Given the description of an element on the screen output the (x, y) to click on. 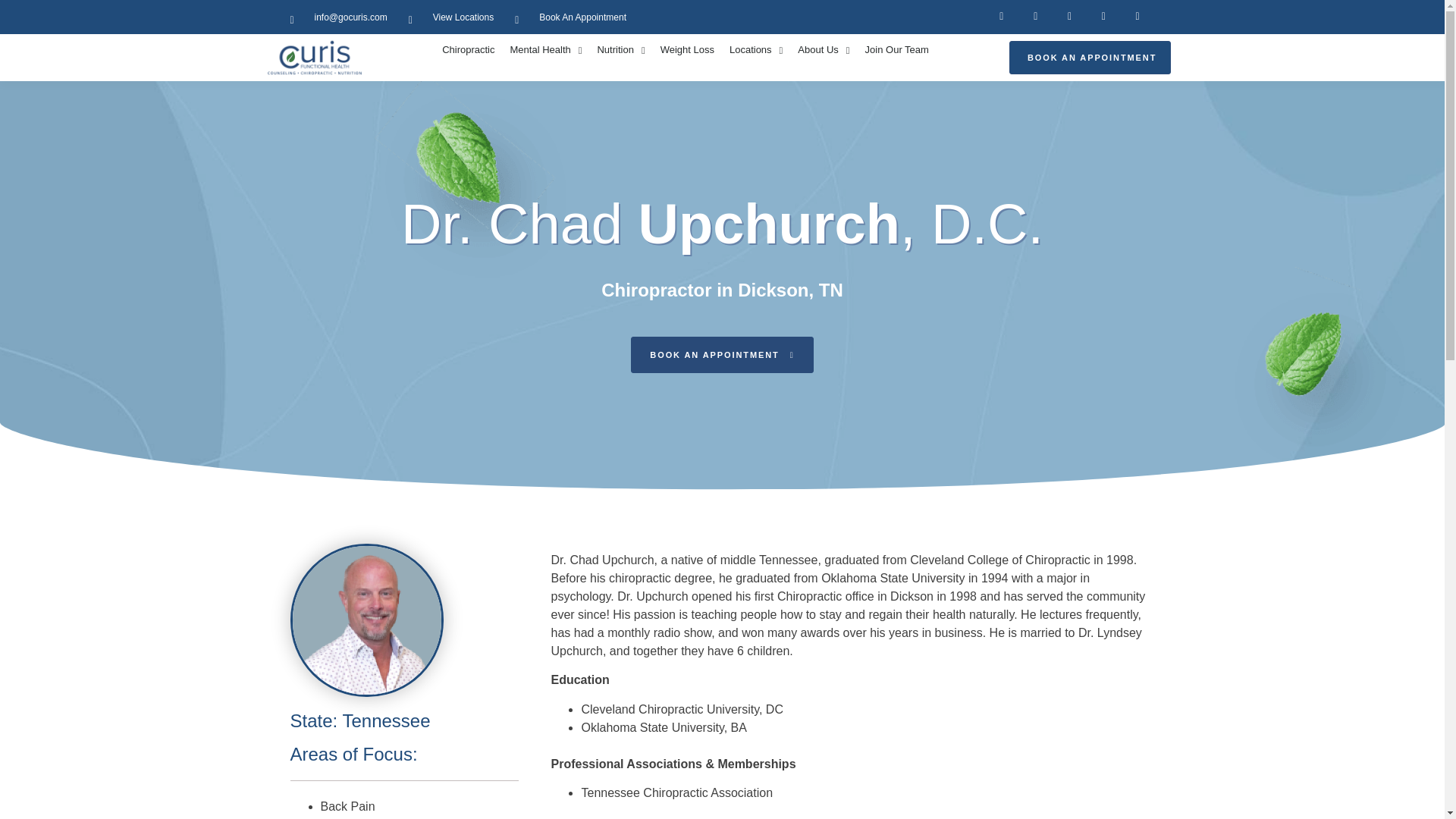
Weight Loss (687, 50)
Chiropractic (467, 50)
Mental Health (545, 50)
Book An Appointment (570, 17)
Nutrition (620, 50)
View Locations (452, 17)
Locations (756, 50)
